Given the description of an element on the screen output the (x, y) to click on. 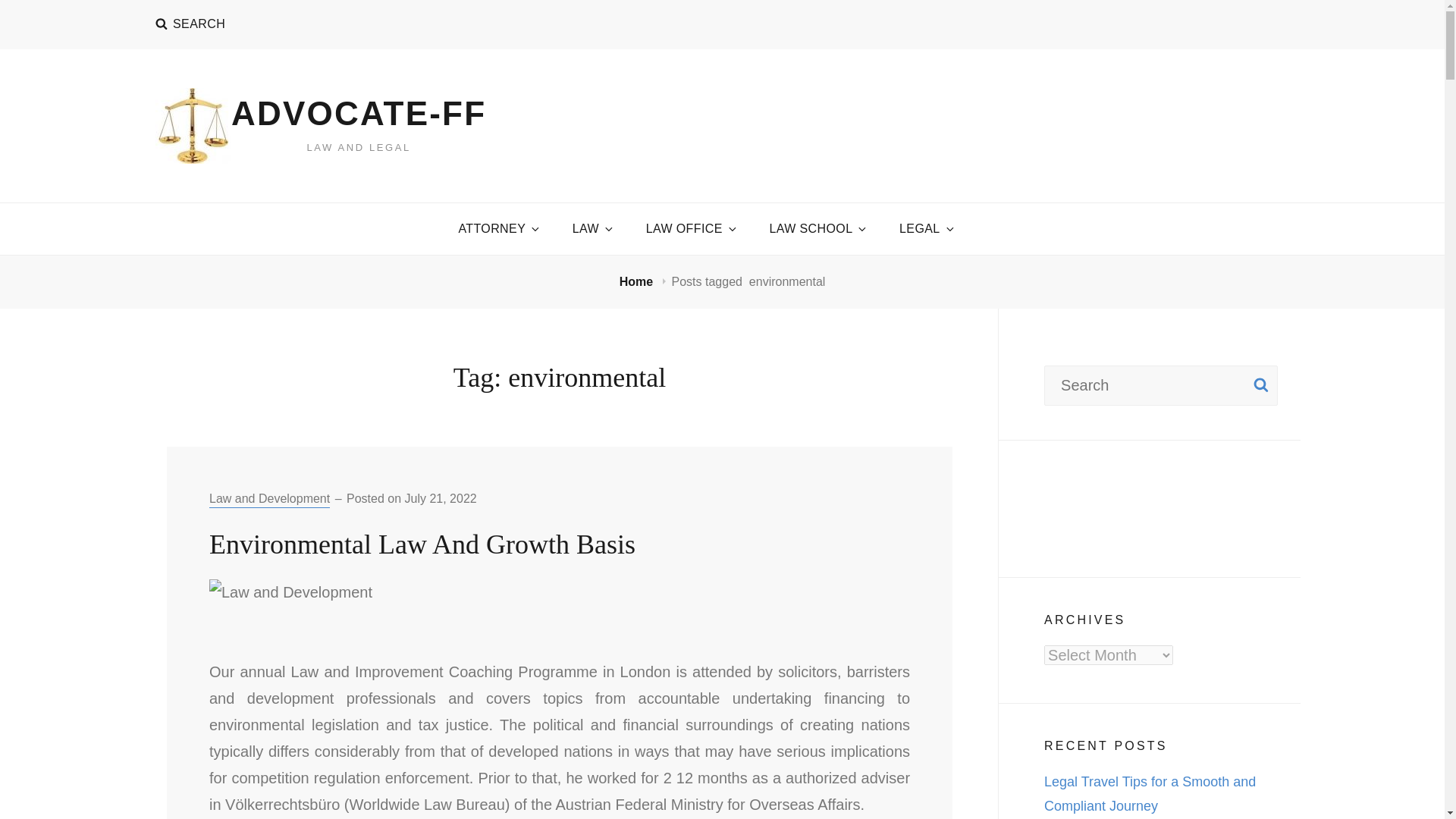
SEARCH (189, 24)
Home (638, 281)
LAW (591, 228)
LAW SCHOOL (816, 228)
Environmental Law And Growth Basis (421, 544)
LAW OFFICE (689, 228)
Law and Development (269, 499)
ADVOCATE-FF (358, 113)
LEGAL (925, 228)
ATTORNEY (497, 228)
